Given the description of an element on the screen output the (x, y) to click on. 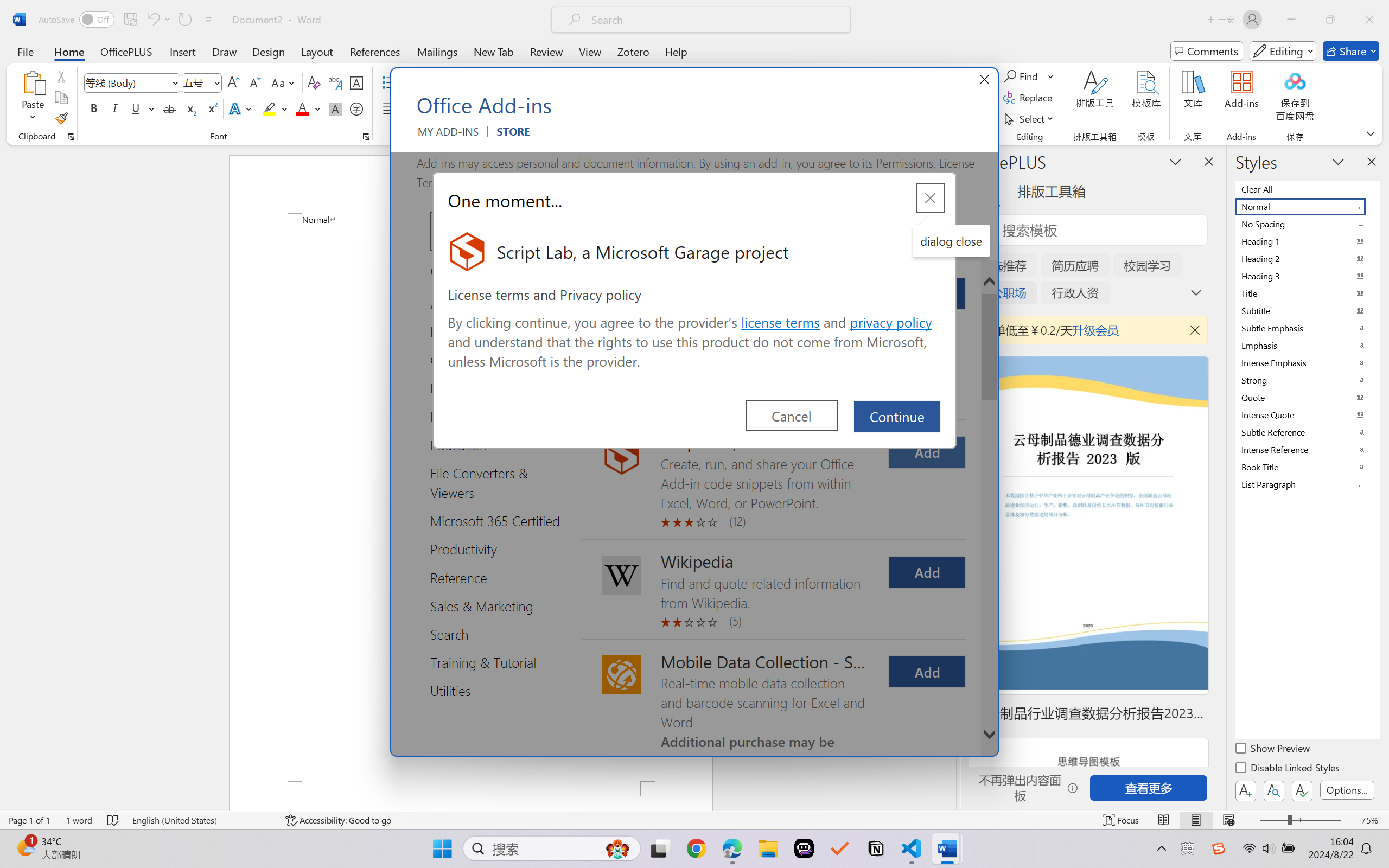
Disable Linked Styles (1287, 769)
Insert (182, 51)
Heading 2 (1306, 258)
No Spacing (1306, 223)
Web Layout (1228, 819)
References (375, 51)
AutomationID: DynamicSearchBoxGleamImage (617, 848)
Review (546, 51)
Repeat Doc Close (184, 19)
Enclose Characters... (356, 108)
Word Count 1 word (78, 819)
Intense Reference (1306, 449)
Microsoft search (715, 19)
